Given the description of an element on the screen output the (x, y) to click on. 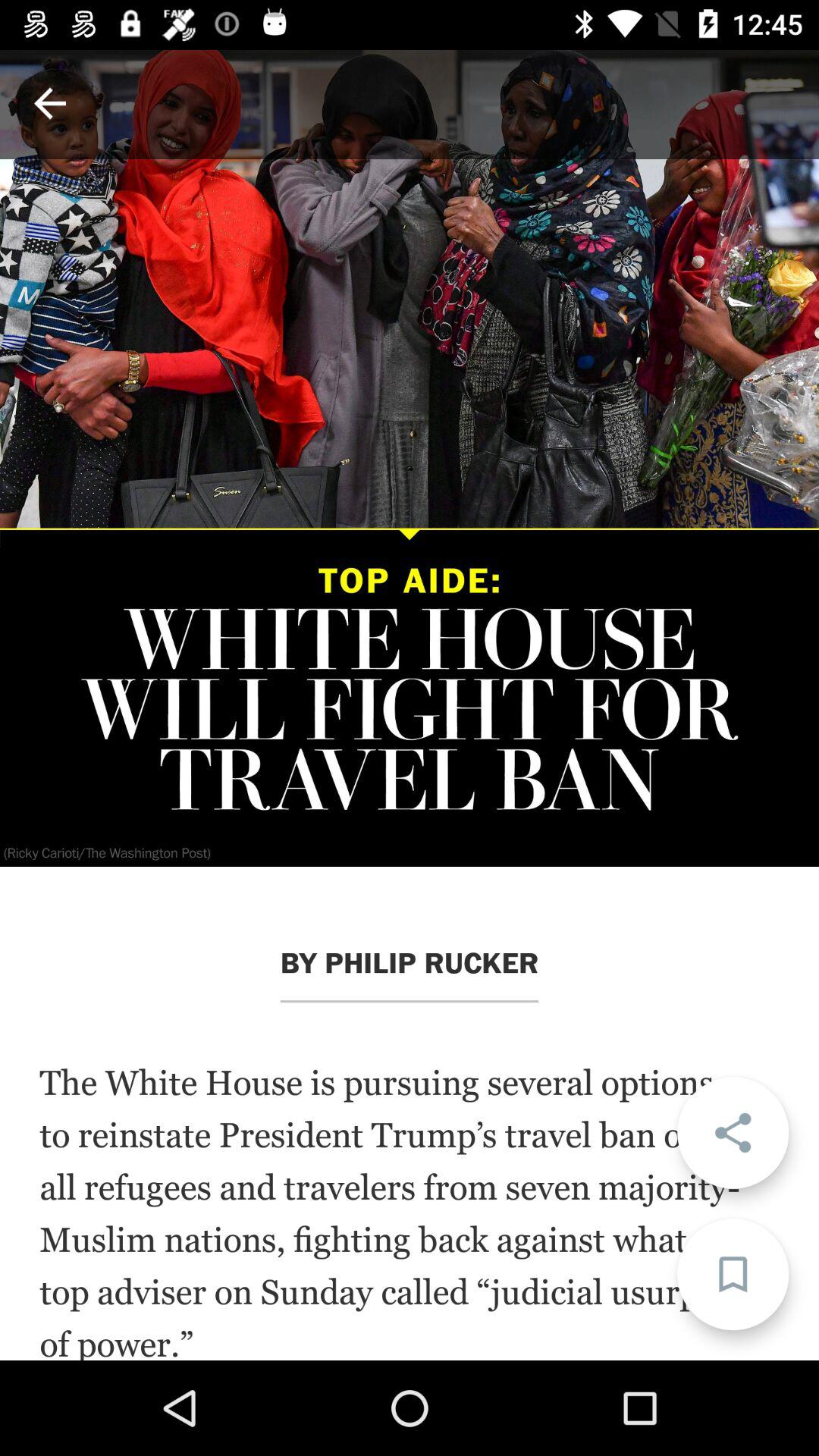
go to previous (49, 103)
